Given the description of an element on the screen output the (x, y) to click on. 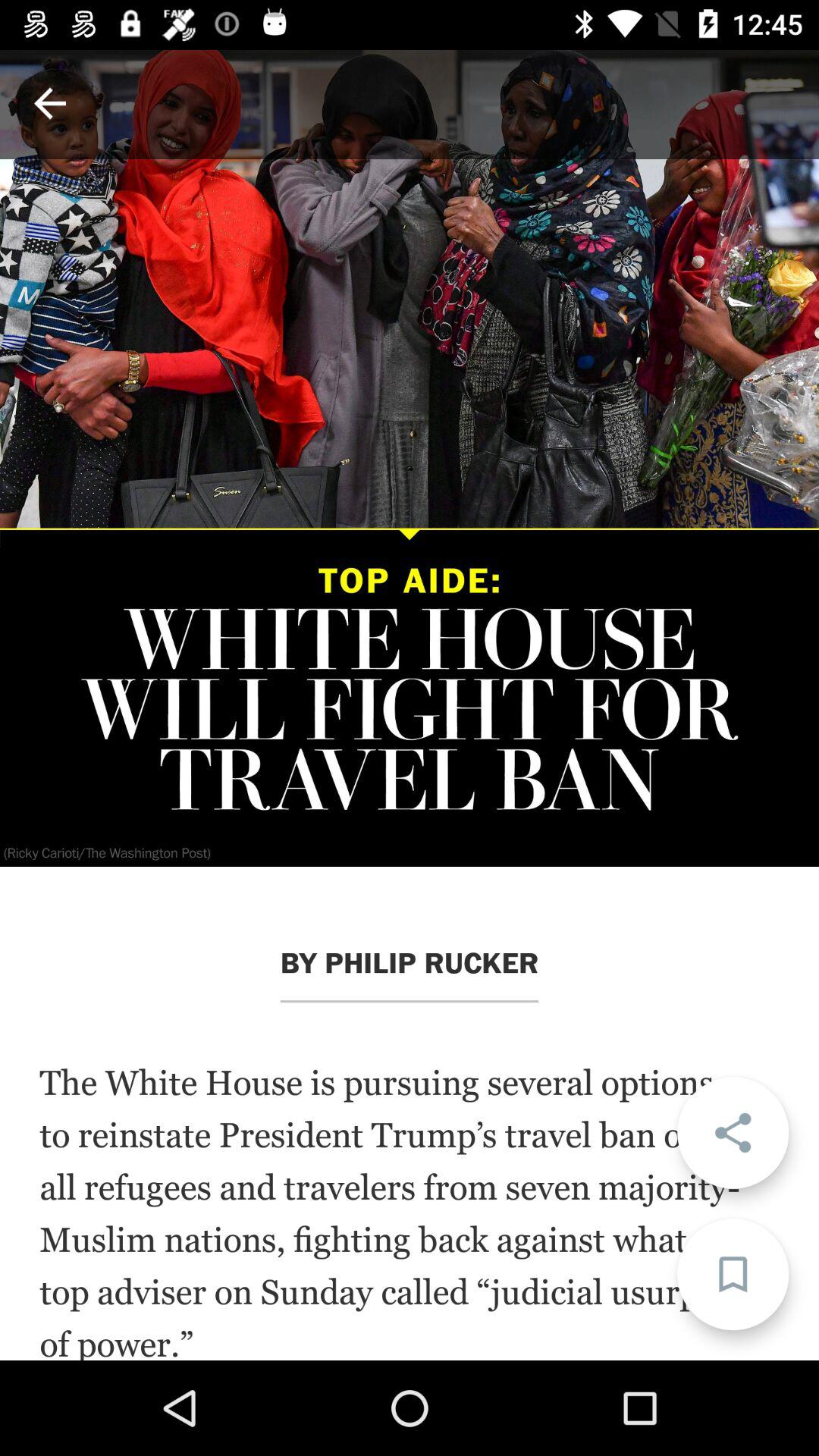
go to previous (49, 103)
